Given the description of an element on the screen output the (x, y) to click on. 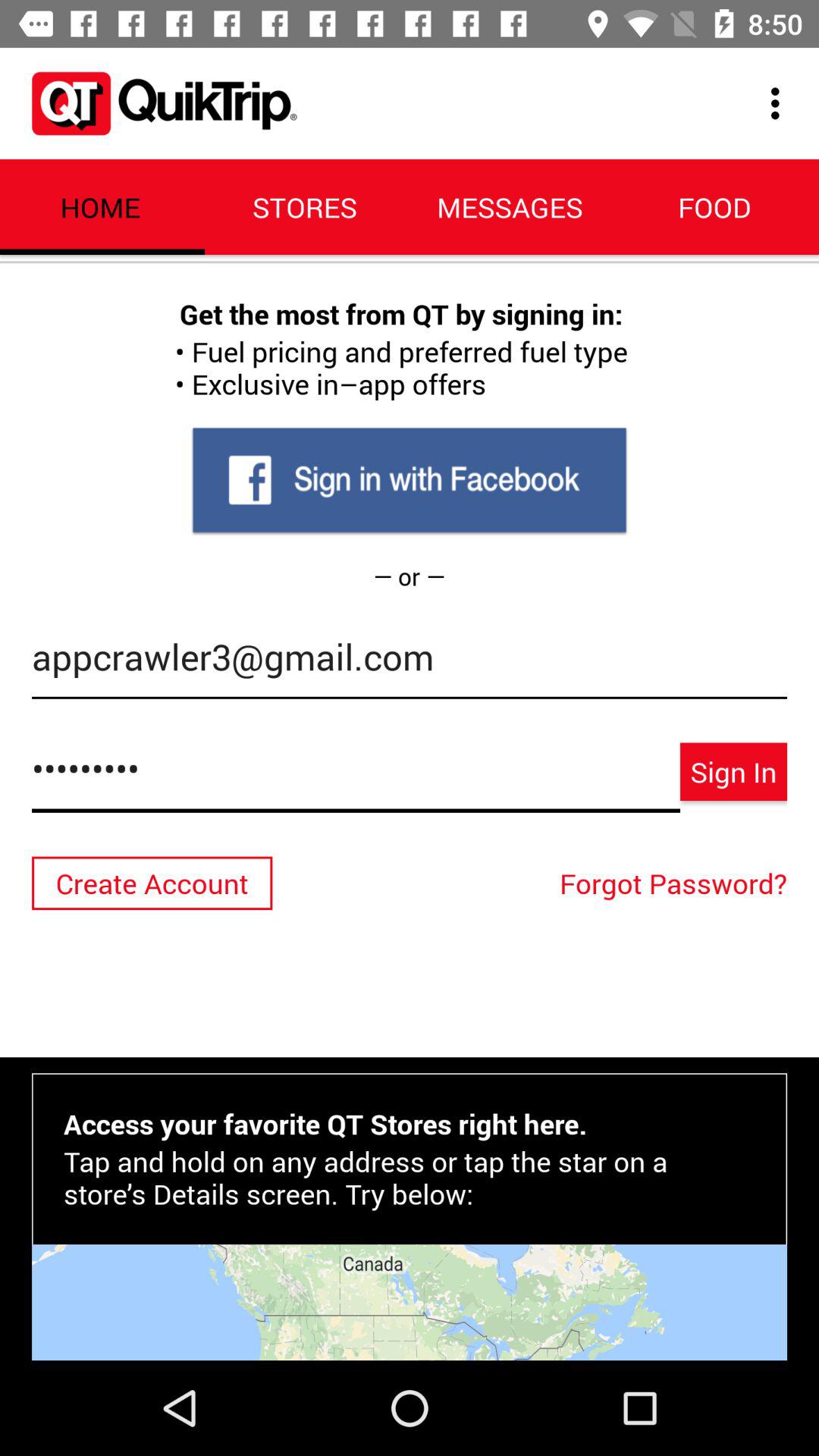
turn on the icon to the left of the sign in icon (355, 776)
